Given the description of an element on the screen output the (x, y) to click on. 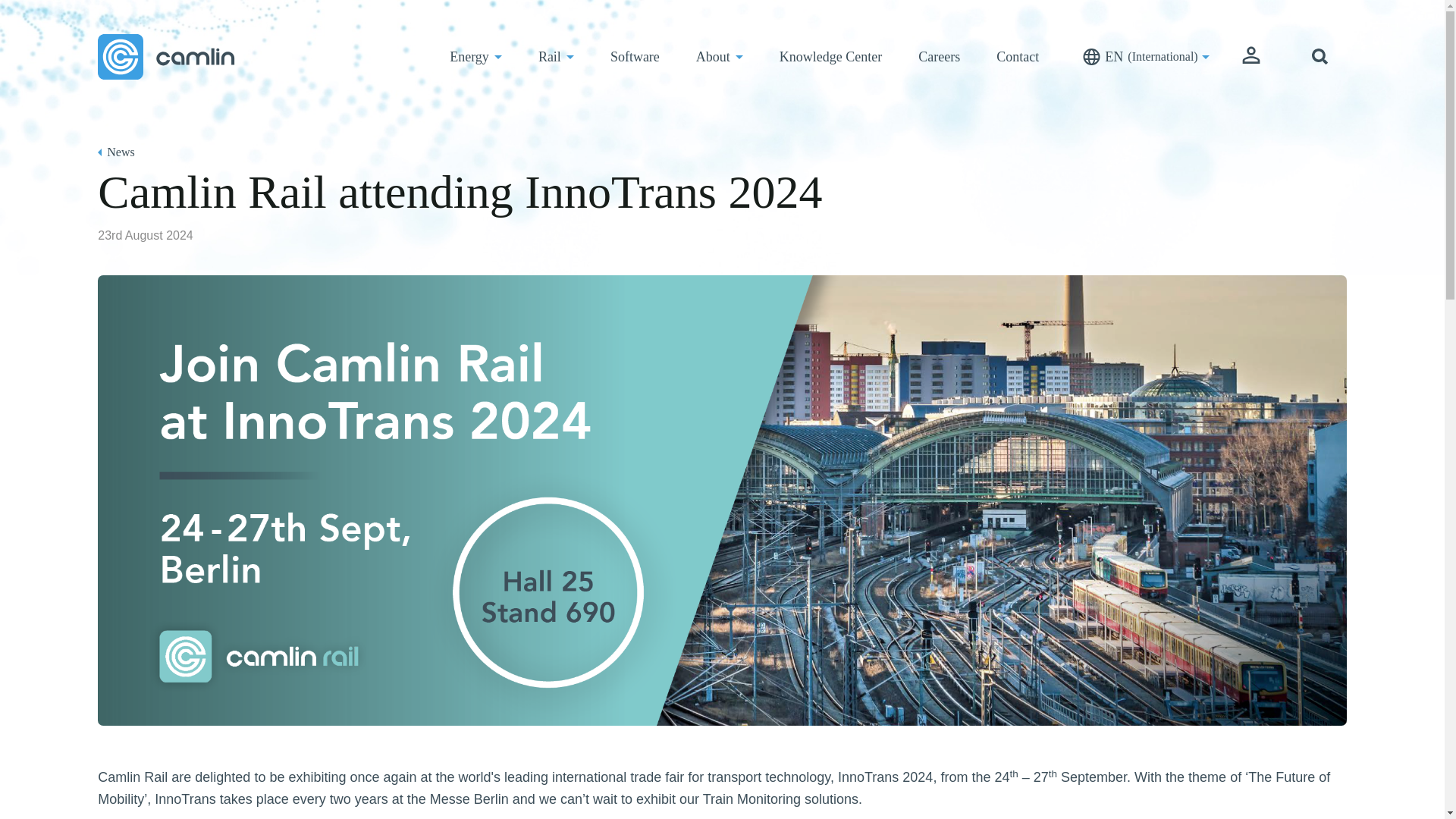
Software (635, 56)
Contact (1017, 56)
Careers (938, 56)
Knowledge Center (830, 56)
